Given the description of an element on the screen output the (x, y) to click on. 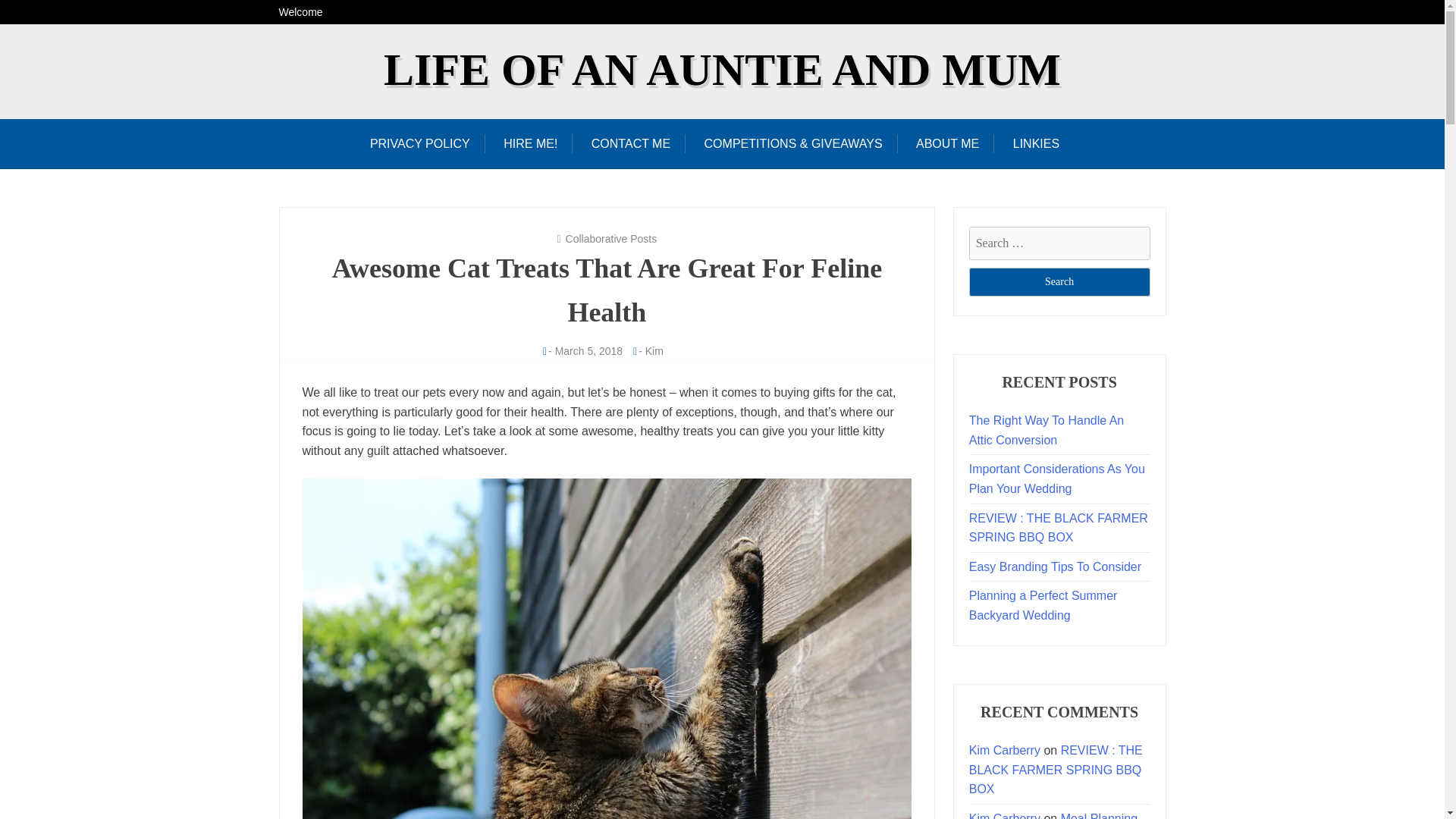
Important Considerations As You Plan Your Wedding (1056, 478)
Easy Branding Tips To Consider (1055, 566)
Search (1059, 281)
LIFE OF AN AUNTIE AND MUM (722, 70)
REVIEW : THE BLACK FARMER SPRING BBQ BOX (1055, 769)
CONTACT ME (630, 143)
Kim Carberry (1005, 749)
Collaborative Posts (612, 238)
ABOUT ME (947, 143)
The Right Way To Handle An Attic Conversion (1046, 430)
LINKIES (1035, 143)
March 5, 2018 (588, 350)
PRIVACY POLICY (426, 143)
HIRE ME! (529, 143)
Kim Carberry (1005, 815)
